Given the description of an element on the screen output the (x, y) to click on. 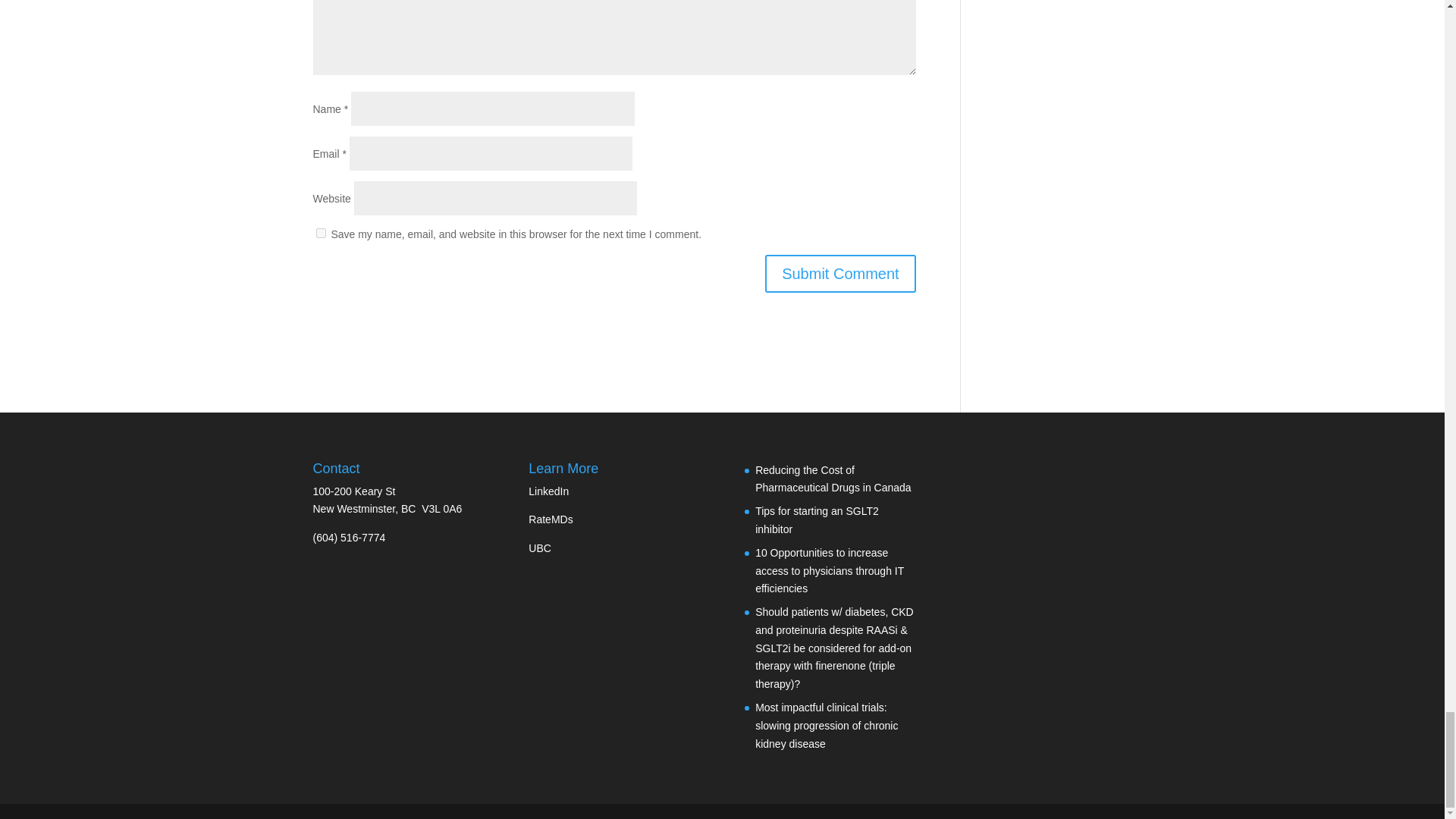
Submit Comment (840, 273)
yes (319, 233)
Tips for starting an SGLT2 inhibitor (817, 520)
RateMDs (550, 519)
UBC (539, 548)
Reducing the Cost of Pharmaceutical Drugs in Canada (833, 479)
LinkedIn (548, 491)
Submit Comment (840, 273)
